Given the description of an element on the screen output the (x, y) to click on. 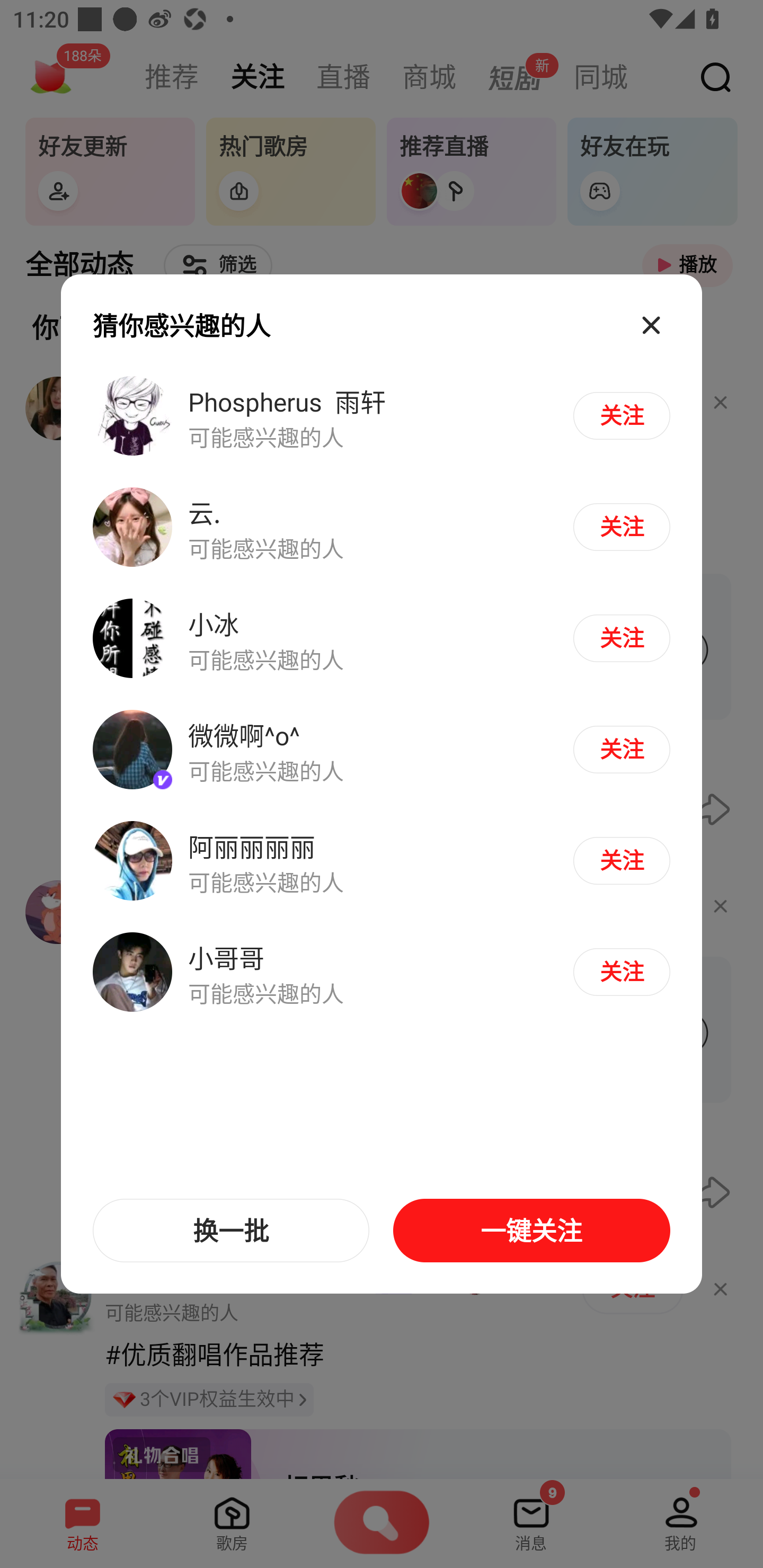
Phospherus  雨轩 可能感兴趣的人 关注 按钮 (381, 415)
关注 按钮 (621, 415)
云. 可能感兴趣的人 关注 按钮 (381, 527)
关注 按钮 (621, 526)
小冰 可能感兴趣的人 关注 按钮 (381, 638)
关注 按钮 (621, 637)
微微啊^o^ 可能感兴趣的人 关注 按钮 (381, 749)
关注 按钮 (621, 749)
阿丽丽丽丽 可能感兴趣的人 关注 按钮 (381, 860)
关注 按钮 (621, 860)
小哥哥 可能感兴趣的人 关注 按钮 (381, 971)
关注 按钮 (621, 971)
换一批 按钮 (231, 1230)
一键关注 按钮 (530, 1230)
